Given the description of an element on the screen output the (x, y) to click on. 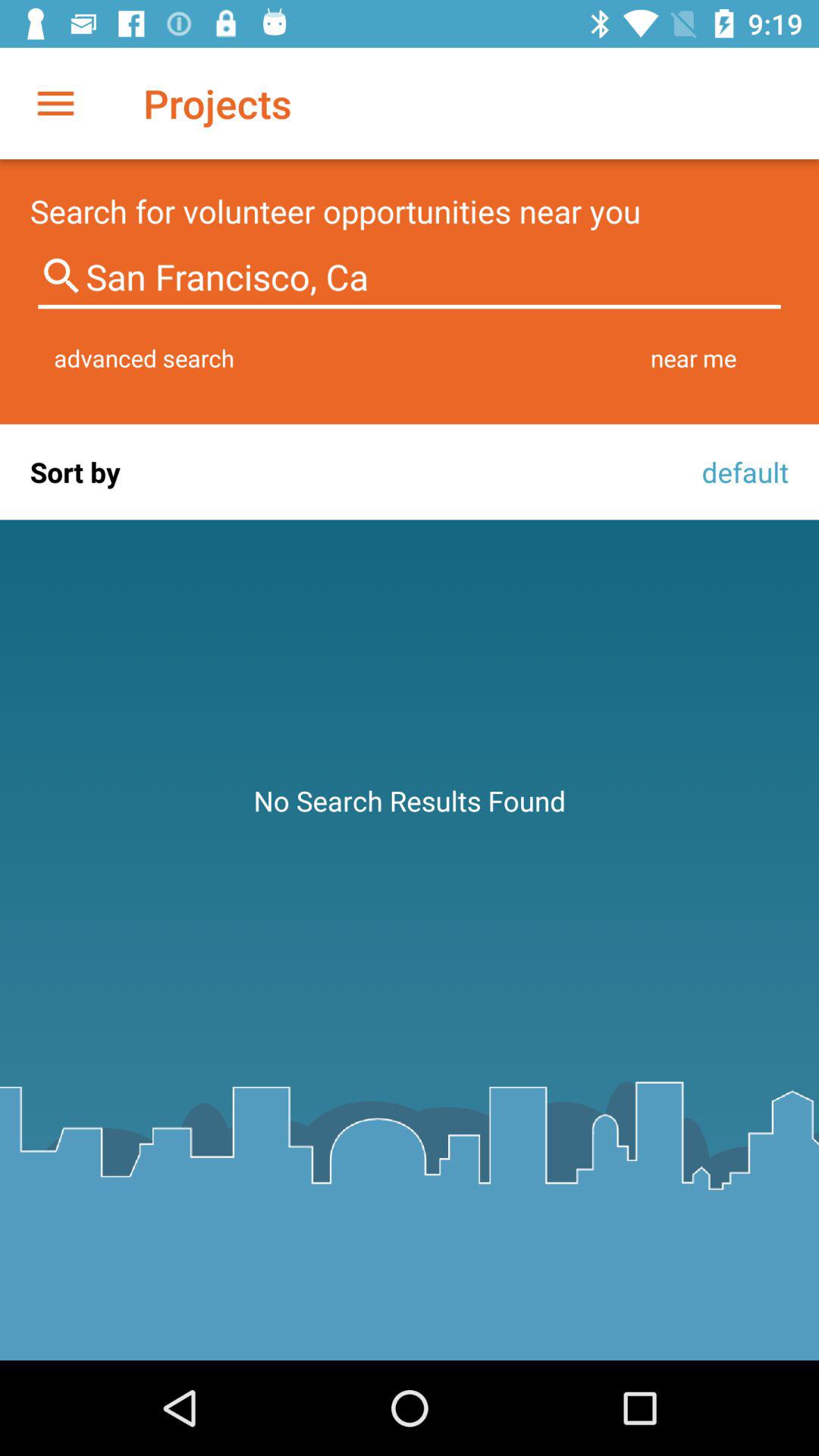
projects settings (55, 103)
